Given the description of an element on the screen output the (x, y) to click on. 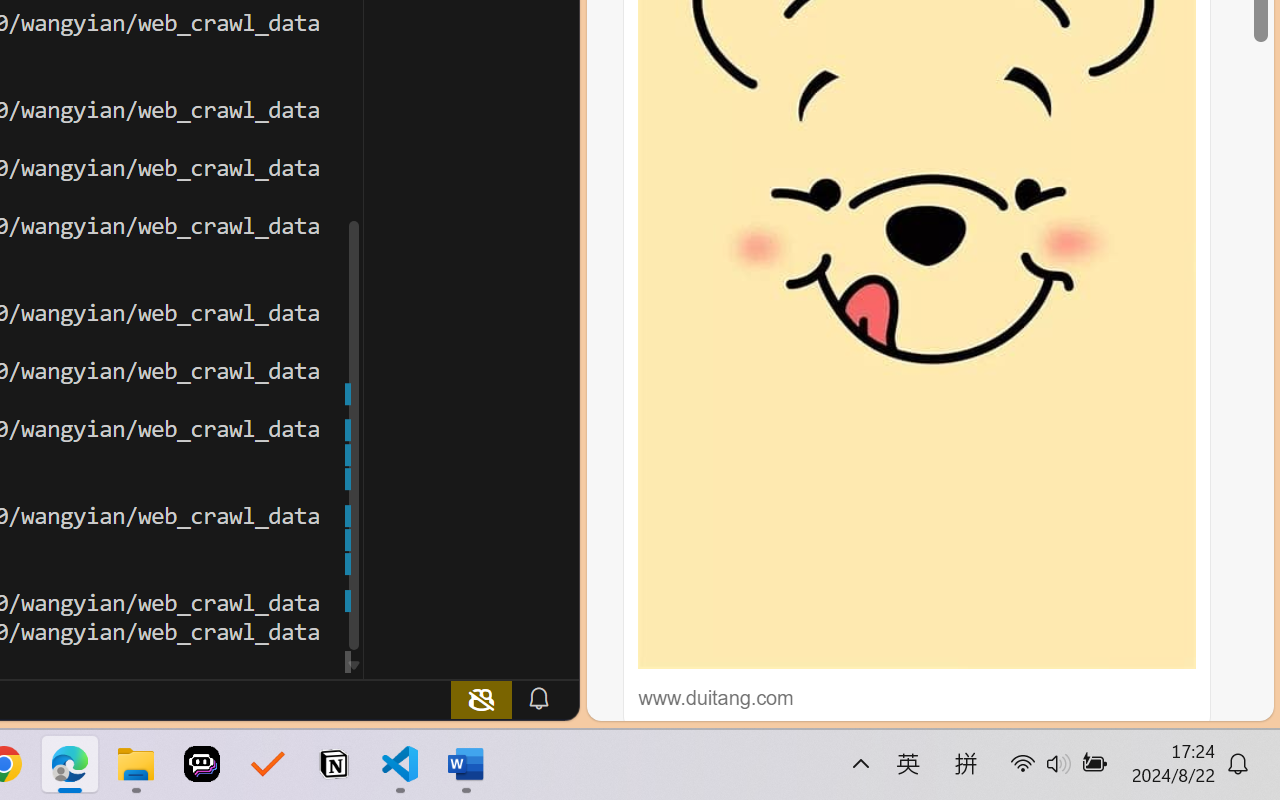
copilot-notconnected, Copilot error (click for details) (481, 698)
Notifications (537, 698)
